Given the description of an element on the screen output the (x, y) to click on. 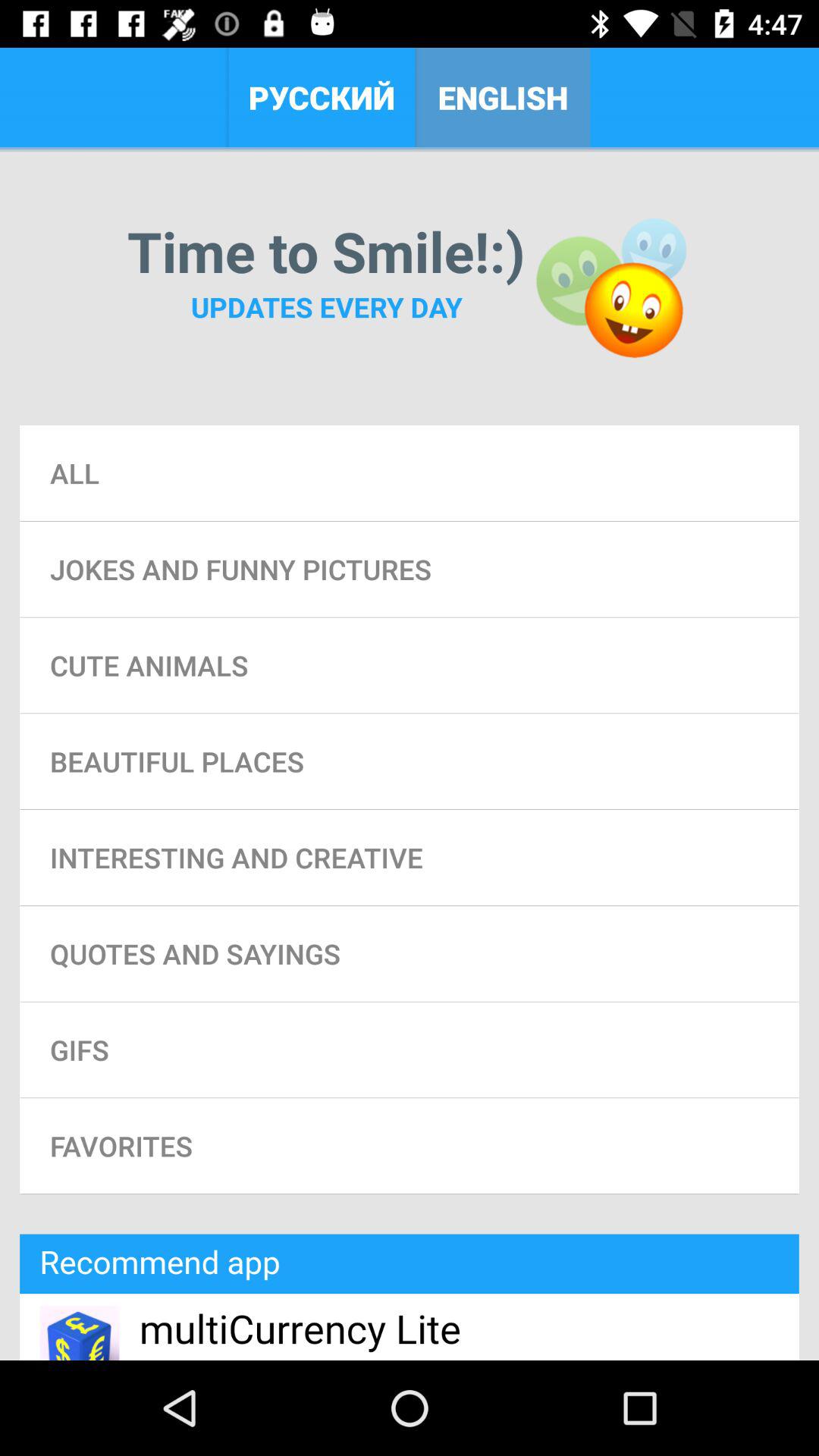
jump until the all item (409, 472)
